Given the description of an element on the screen output the (x, y) to click on. 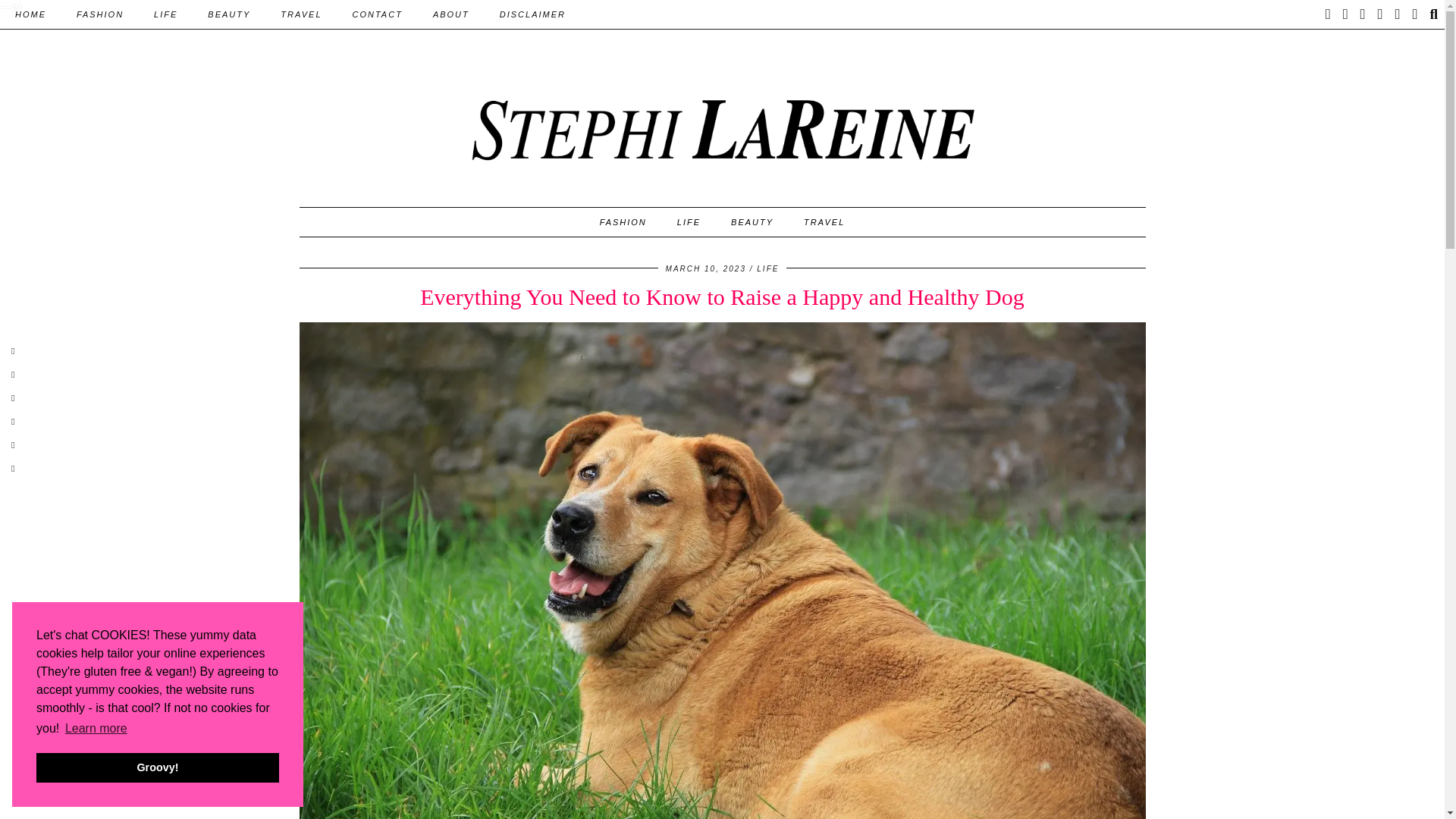
Groovy! (157, 767)
FASHION (99, 14)
Learn more (95, 728)
HOME (30, 14)
LIFE (165, 14)
BEAUTY (228, 14)
